Given the description of an element on the screen output the (x, y) to click on. 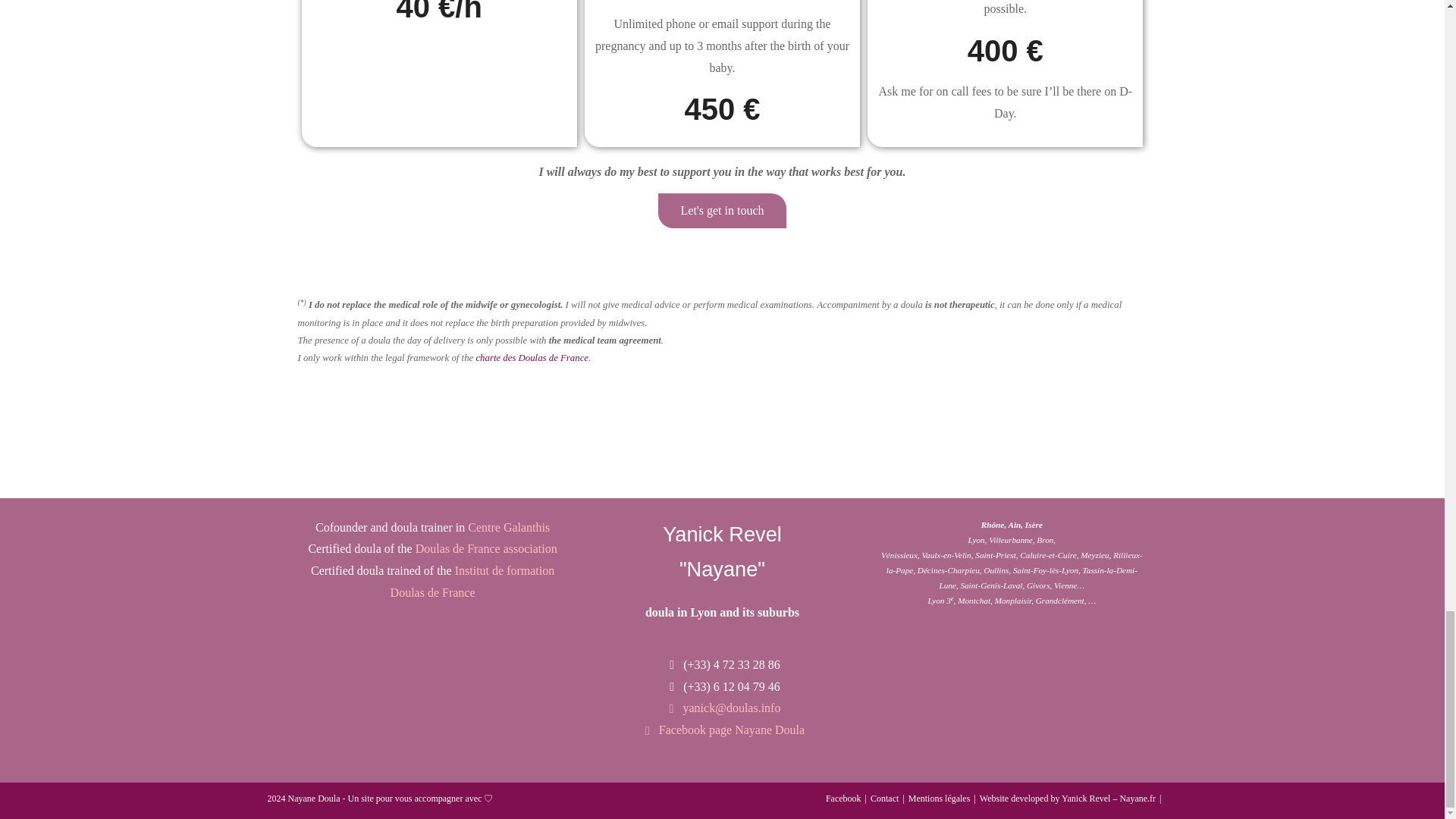
charte des Doulas de France (532, 357)
Doulas de France association (485, 548)
Institut de formation Doulas de France (472, 581)
Let's get in touch (722, 210)
Centre Galanthis (508, 526)
